Given the description of an element on the screen output the (x, y) to click on. 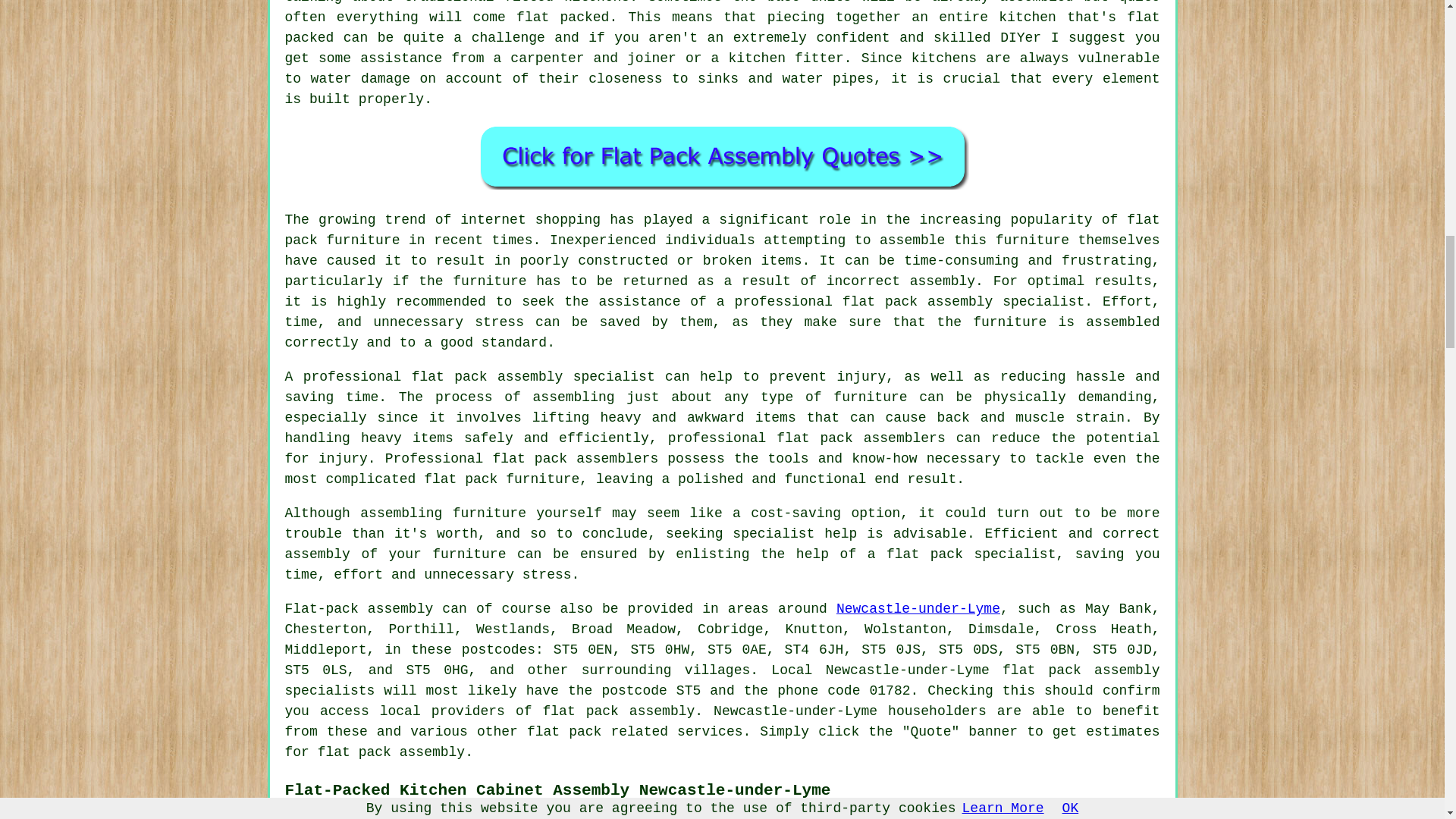
flat pack assembly specialists (722, 680)
flat pack furniture (722, 230)
flat pack assembly (617, 711)
Click for Newcastle-under-Lyme Flat Pack Assembly (722, 156)
flat pack (564, 731)
assembled (1035, 2)
flat packed (562, 17)
